Given the description of an element on the screen output the (x, y) to click on. 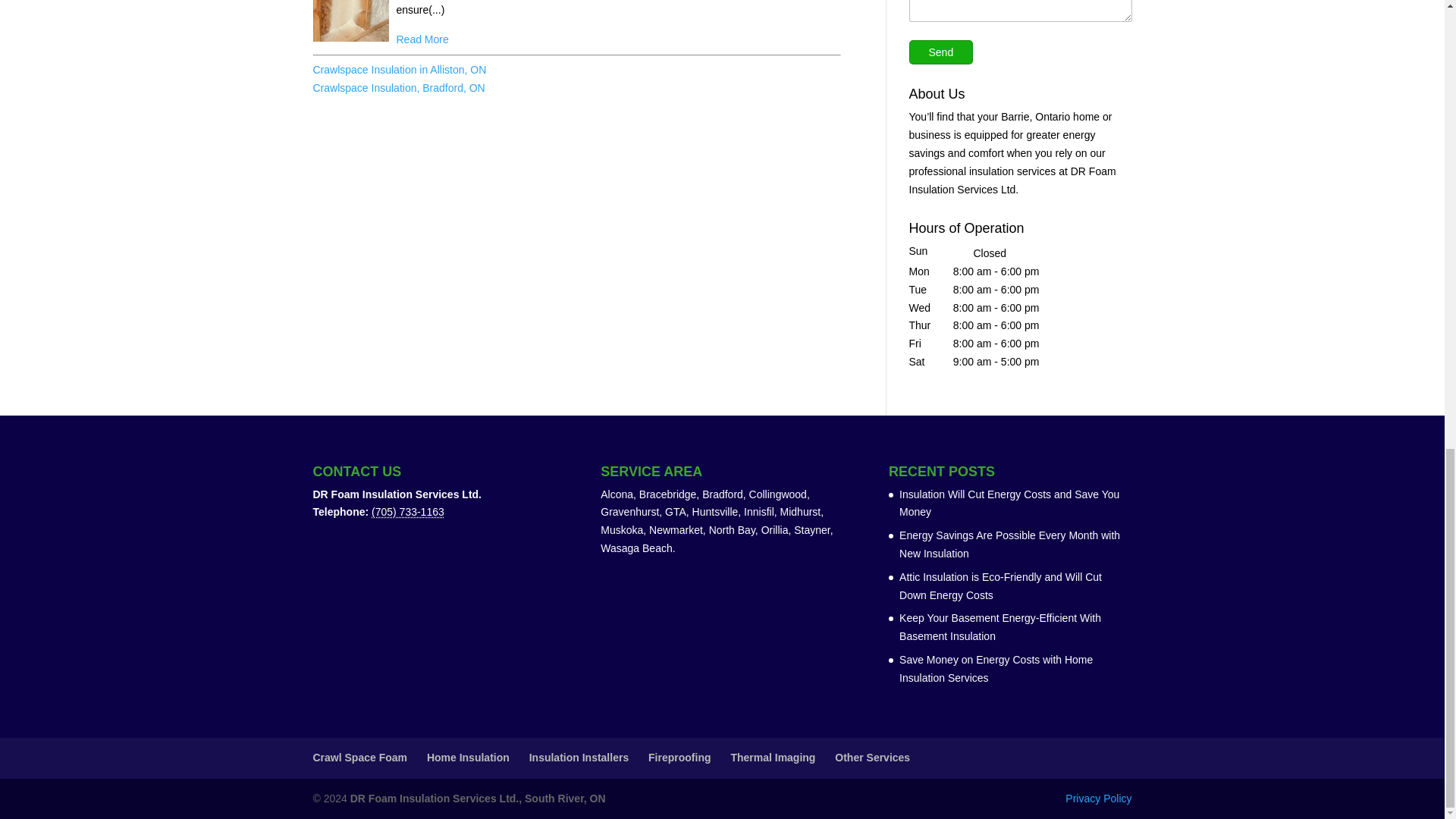
Send (940, 52)
More About Spray Foam Crawlspace Insulation (422, 40)
Spray Foam Crawlspace Insulation, Barrie, ON (350, 23)
